Given the description of an element on the screen output the (x, y) to click on. 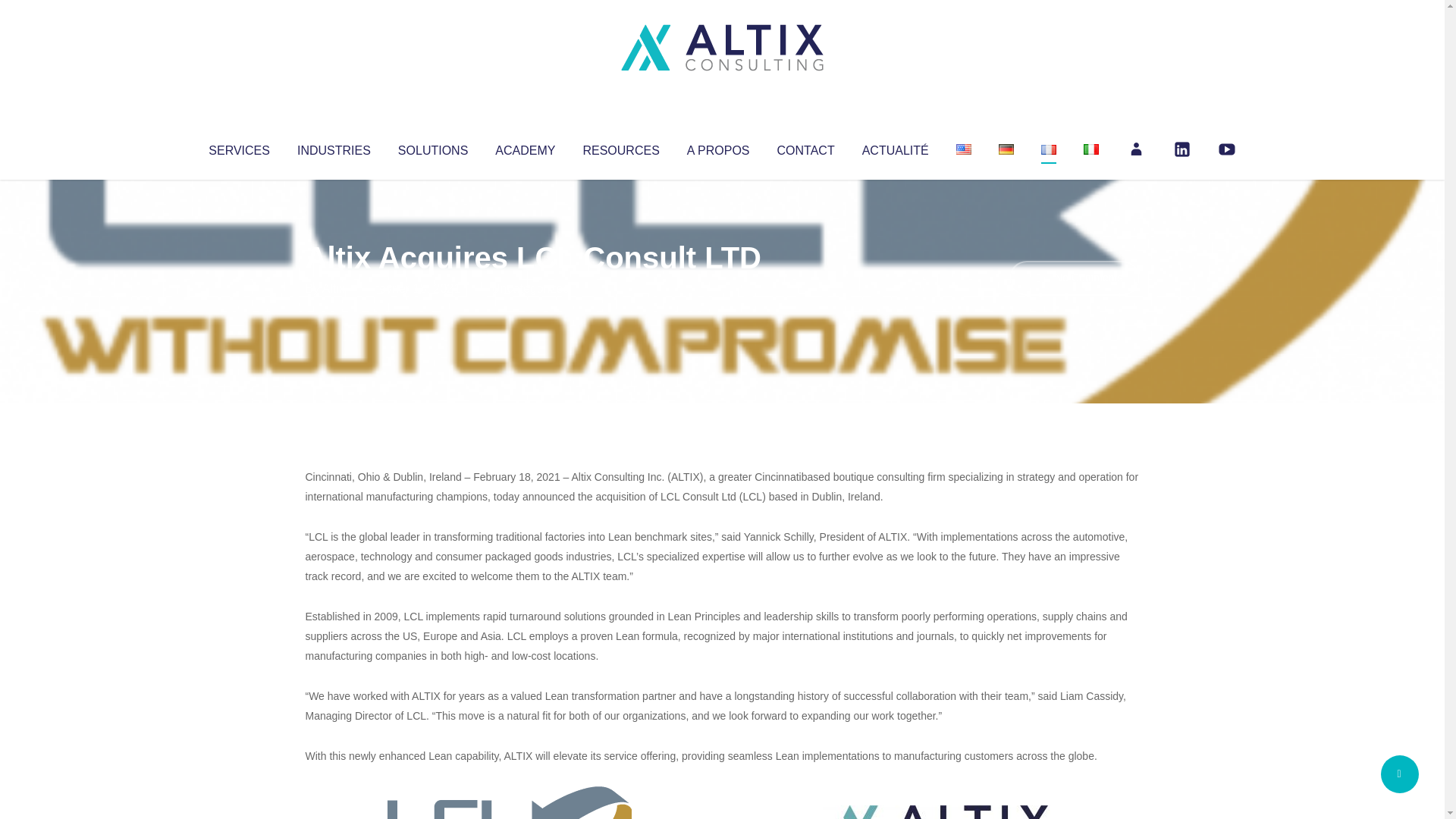
SERVICES (238, 146)
ACADEMY (524, 146)
INDUSTRIES (334, 146)
No Comments (1073, 278)
A PROPOS (718, 146)
Articles par Altix (333, 287)
Uncategorized (530, 287)
RESOURCES (620, 146)
SOLUTIONS (432, 146)
Altix (333, 287)
